Given the description of an element on the screen output the (x, y) to click on. 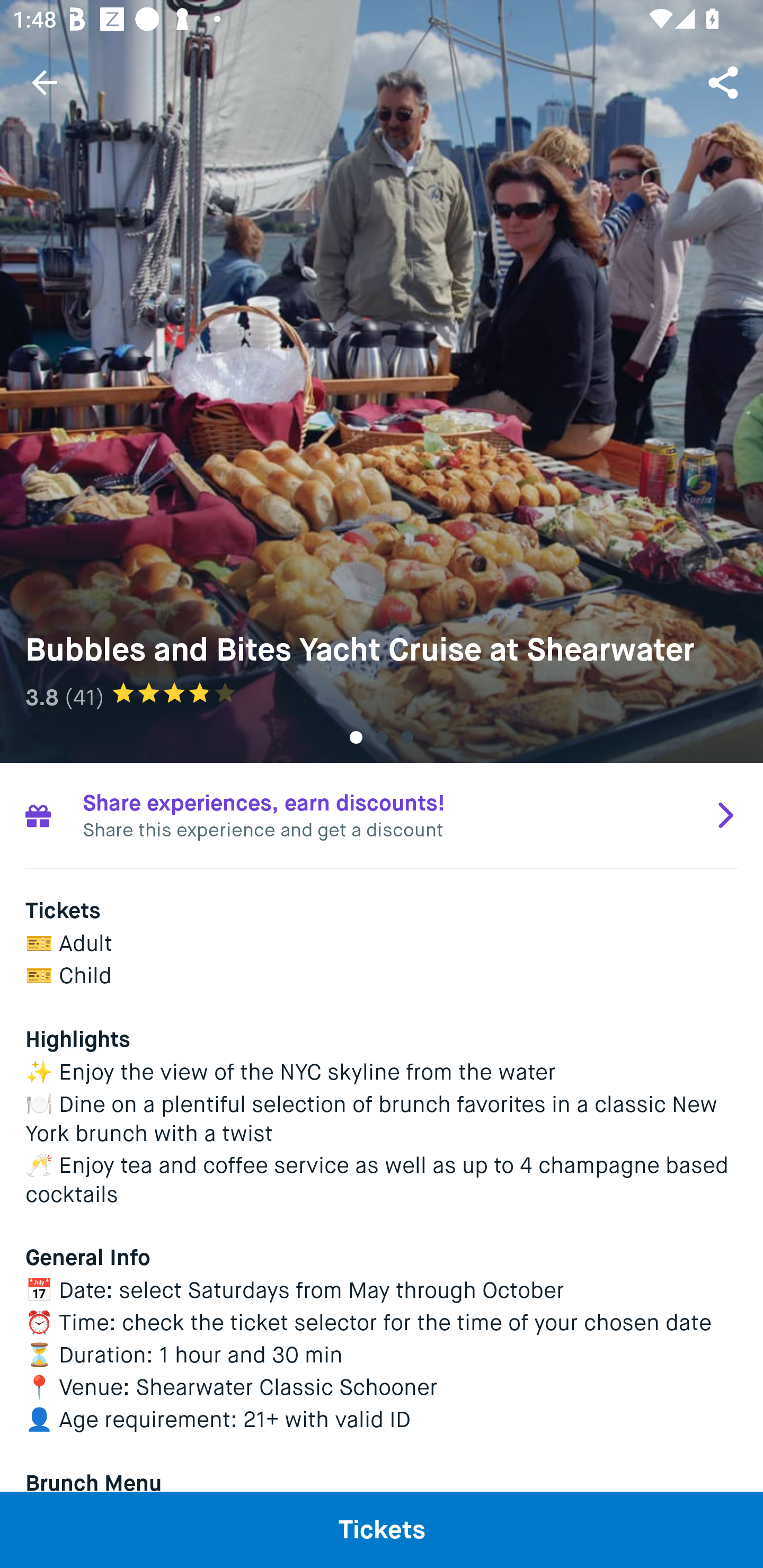
Navigate up (44, 82)
Share (724, 81)
(41) (84, 697)
Tickets (381, 1529)
